Given the description of an element on the screen output the (x, y) to click on. 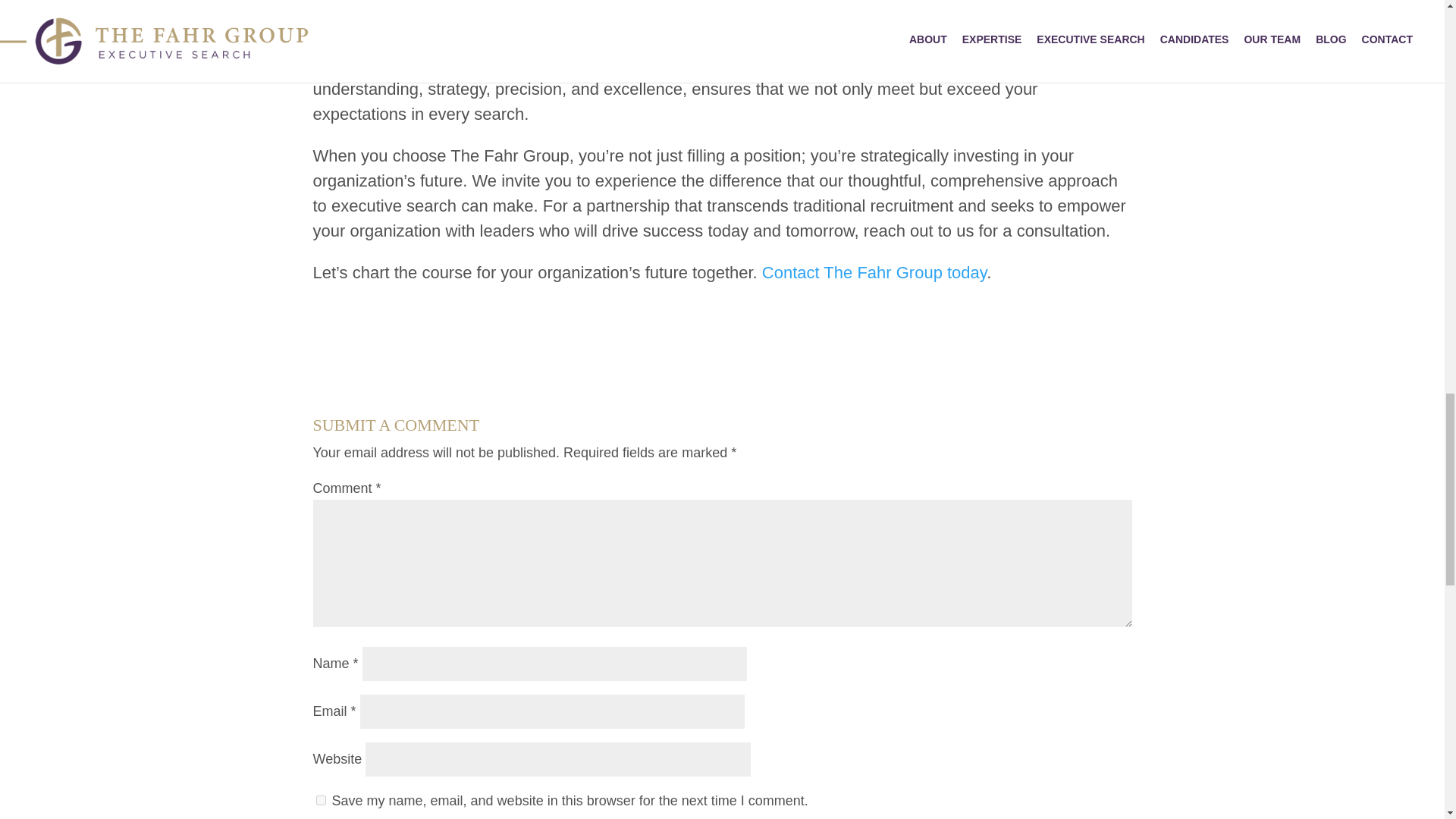
yes (319, 800)
Contact The Fahr Group today (874, 271)
